Given the description of an element on the screen output the (x, y) to click on. 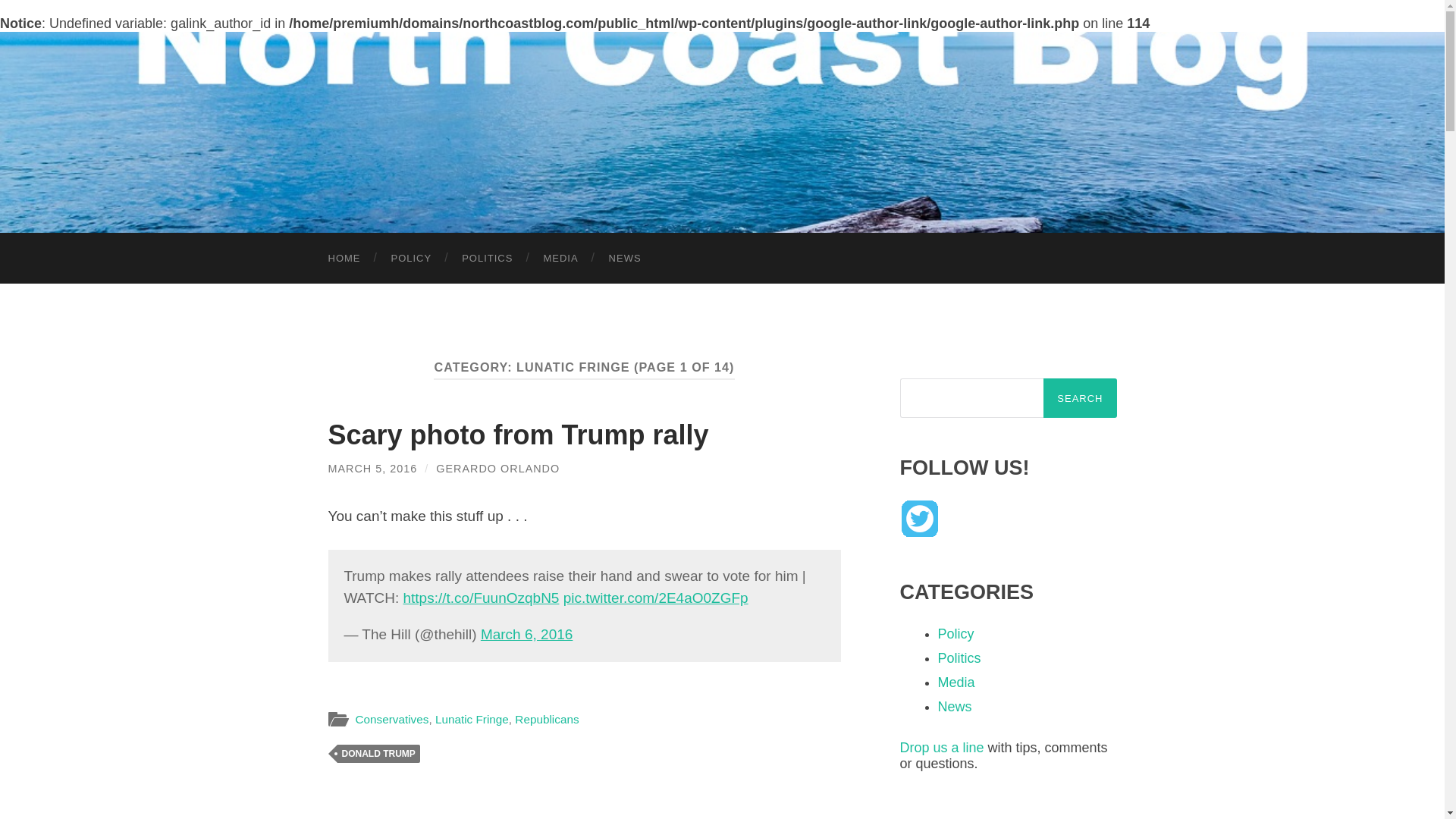
MEDIA (559, 257)
Search (1079, 397)
MARCH 5, 2016 (371, 468)
Posts by Gerardo Orlando (497, 468)
HOME (344, 257)
DONALD TRUMP (377, 753)
POLITICS (486, 257)
Republicans (546, 718)
Scary photo from Trump rally (517, 434)
March 6, 2016 (526, 634)
Lunatic Fringe (471, 718)
POLICY (410, 257)
NEWS (625, 257)
GERARDO ORLANDO (497, 468)
Conservatives (391, 718)
